Given the description of an element on the screen output the (x, y) to click on. 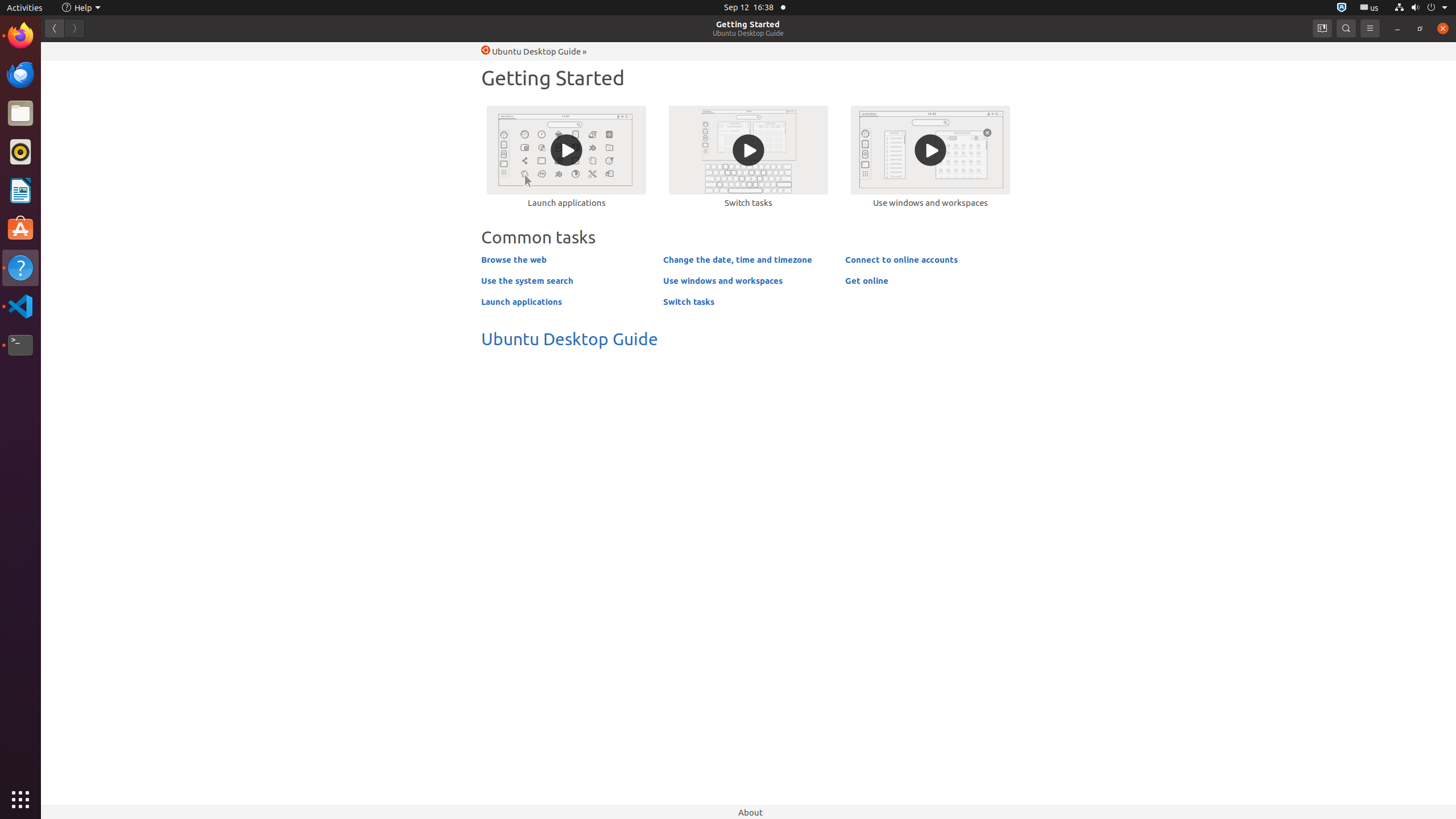
Ubuntu Desktop Guide Element type: label (747, 33)
Firefox Web Browser Element type: push-button (20, 35)
Connect to online accounts Element type: link (901, 259)
Terminal Element type: push-button (20, 344)
luyi1 Element type: label (75, 50)
